Given the description of an element on the screen output the (x, y) to click on. 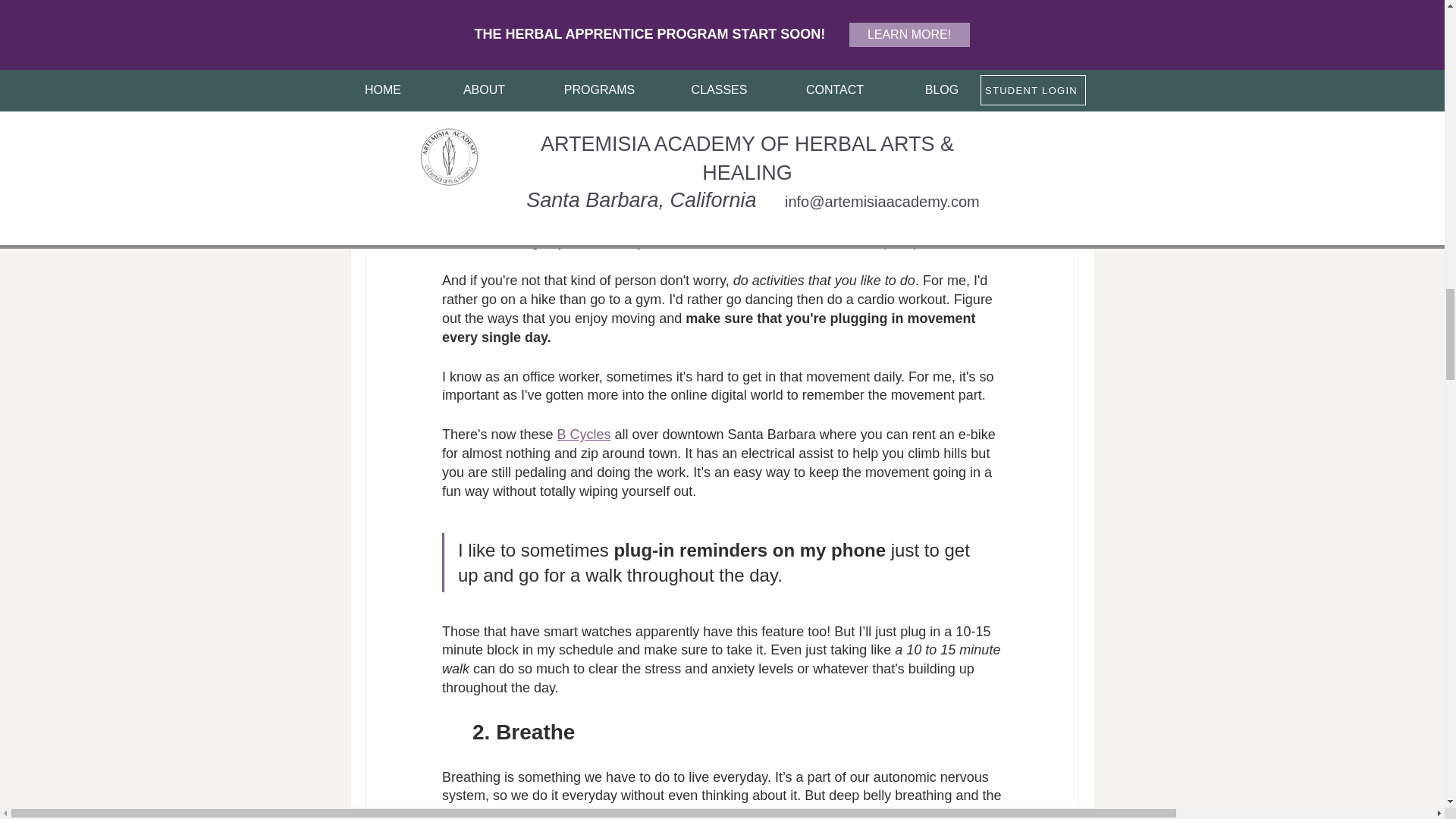
Yoga with Adriene  (811, 108)
B Cycles (583, 434)
